Given the description of an element on the screen output the (x, y) to click on. 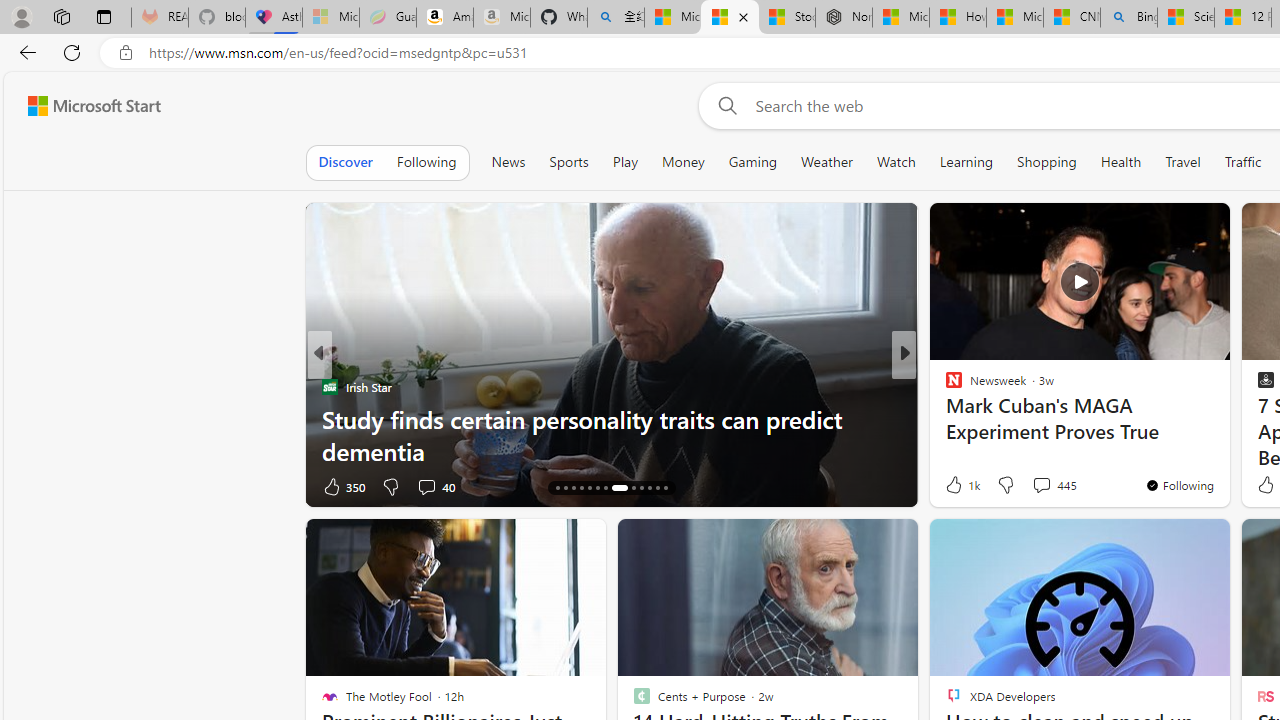
Irish Star (329, 386)
View comments 445 Comment (1041, 485)
AutomationID: tab-23 (641, 487)
PC World (944, 386)
View comments 13 Comment (1051, 486)
Hide this story (1169, 542)
